Given the description of an element on the screen output the (x, y) to click on. 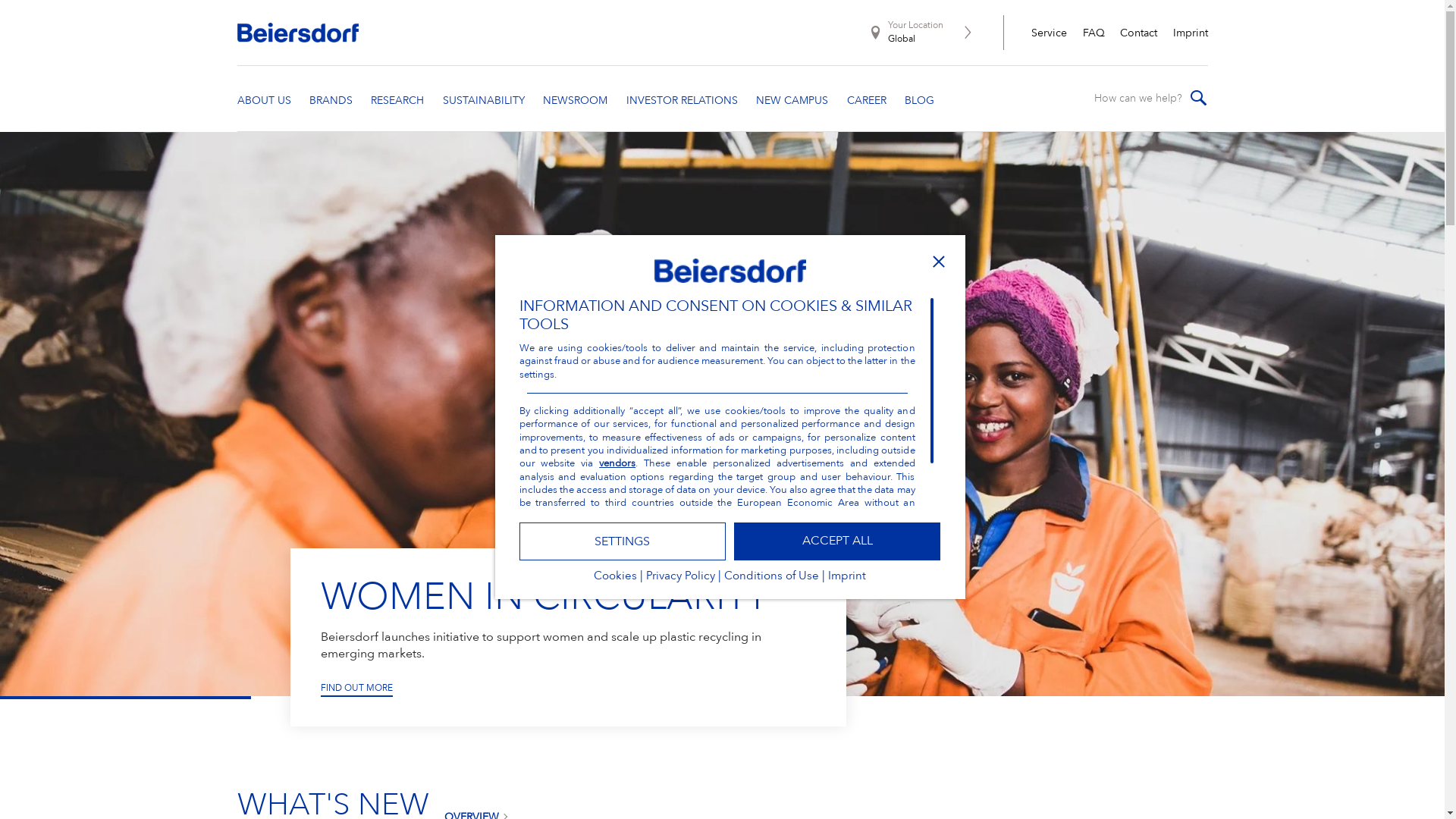
Service Element type: text (1048, 33)
SETTINGS Element type: text (622, 541)
Cookies Element type: text (615, 580)
Conditions of Use Element type: text (771, 580)
Privacy Policy Element type: text (680, 580)
vendors Element type: text (617, 463)
FAQ Element type: text (1093, 33)
Your Location
Global Element type: text (944, 32)
Contact Element type: text (1138, 33)
ACCEPT ALL Element type: text (837, 541)
FIND OUT MORE Element type: text (356, 690)
Imprint Element type: text (1189, 33)
Imprint Element type: text (847, 580)
